Given the description of an element on the screen output the (x, y) to click on. 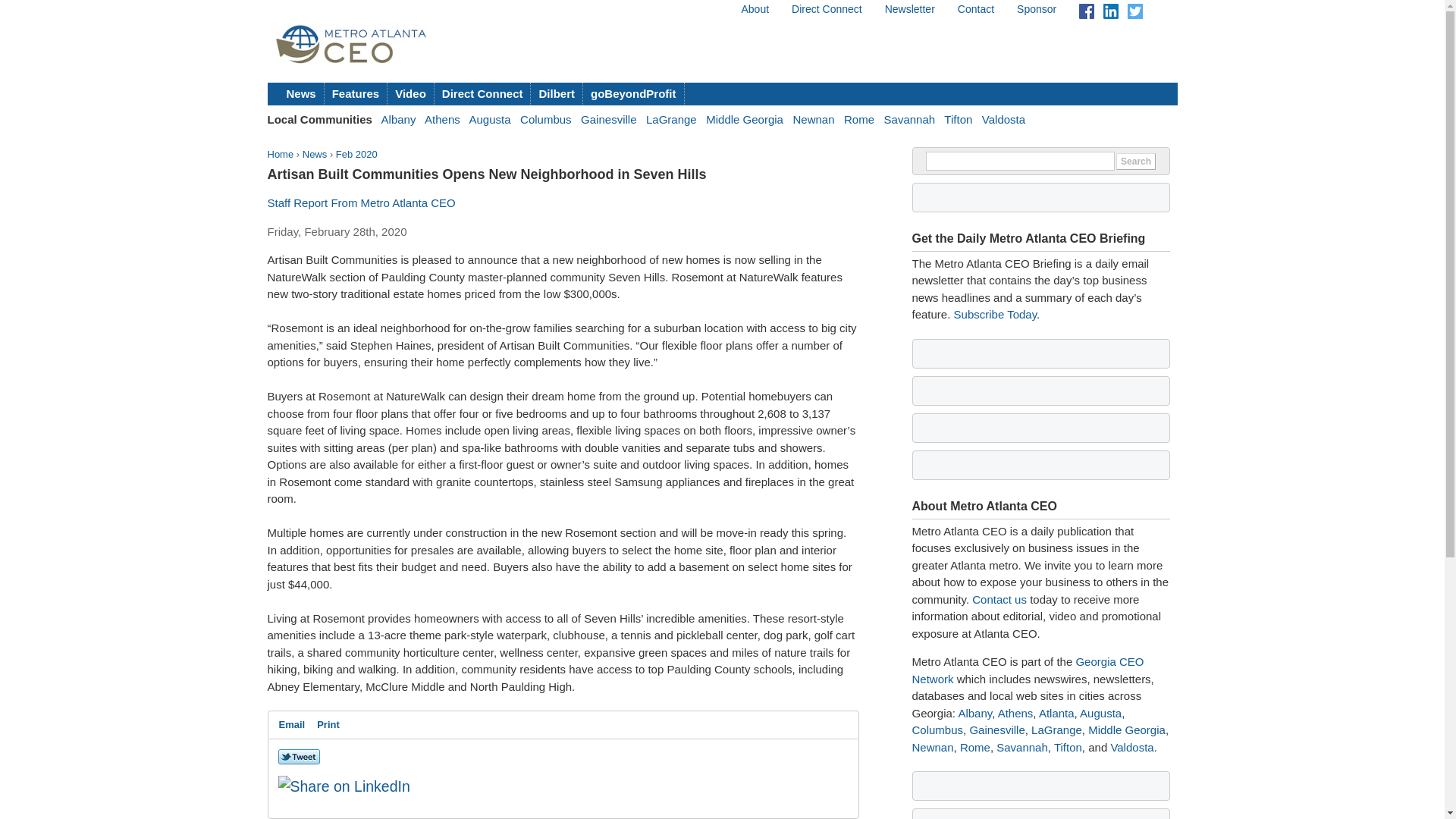
Newnan (813, 119)
Gainesville (608, 119)
Sponsor (1036, 9)
News (301, 93)
Video (410, 93)
Albany (974, 712)
goBeyondProfit (633, 93)
Print (328, 724)
News (314, 153)
Contact us (999, 599)
